Given the description of an element on the screen output the (x, y) to click on. 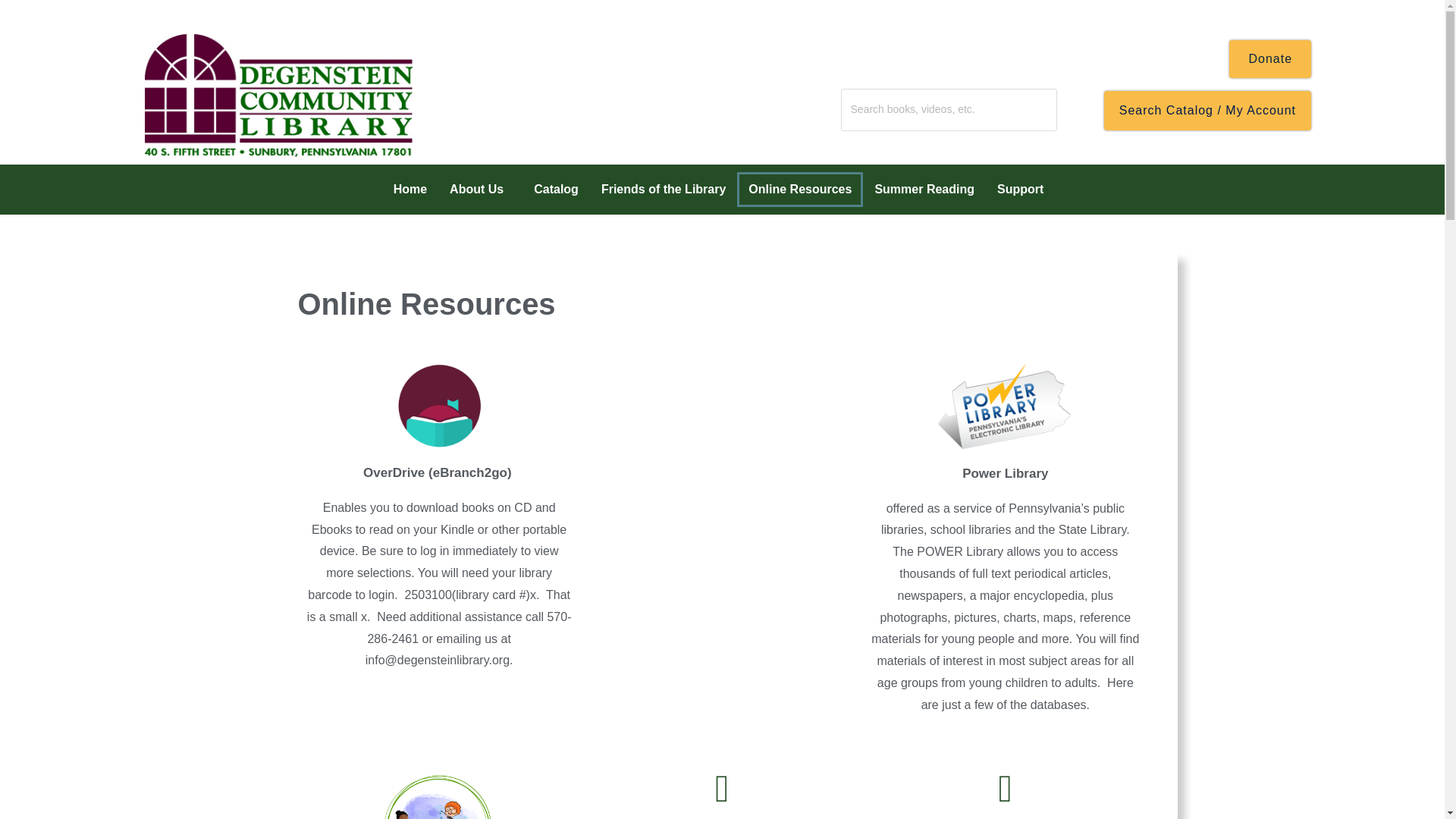
Home (409, 189)
Summer Reading (924, 189)
Support (1023, 189)
About Us (480, 189)
Friends of the Library (662, 189)
Catalog (555, 189)
Donate (1269, 58)
Online Resources (799, 189)
